Given the description of an element on the screen output the (x, y) to click on. 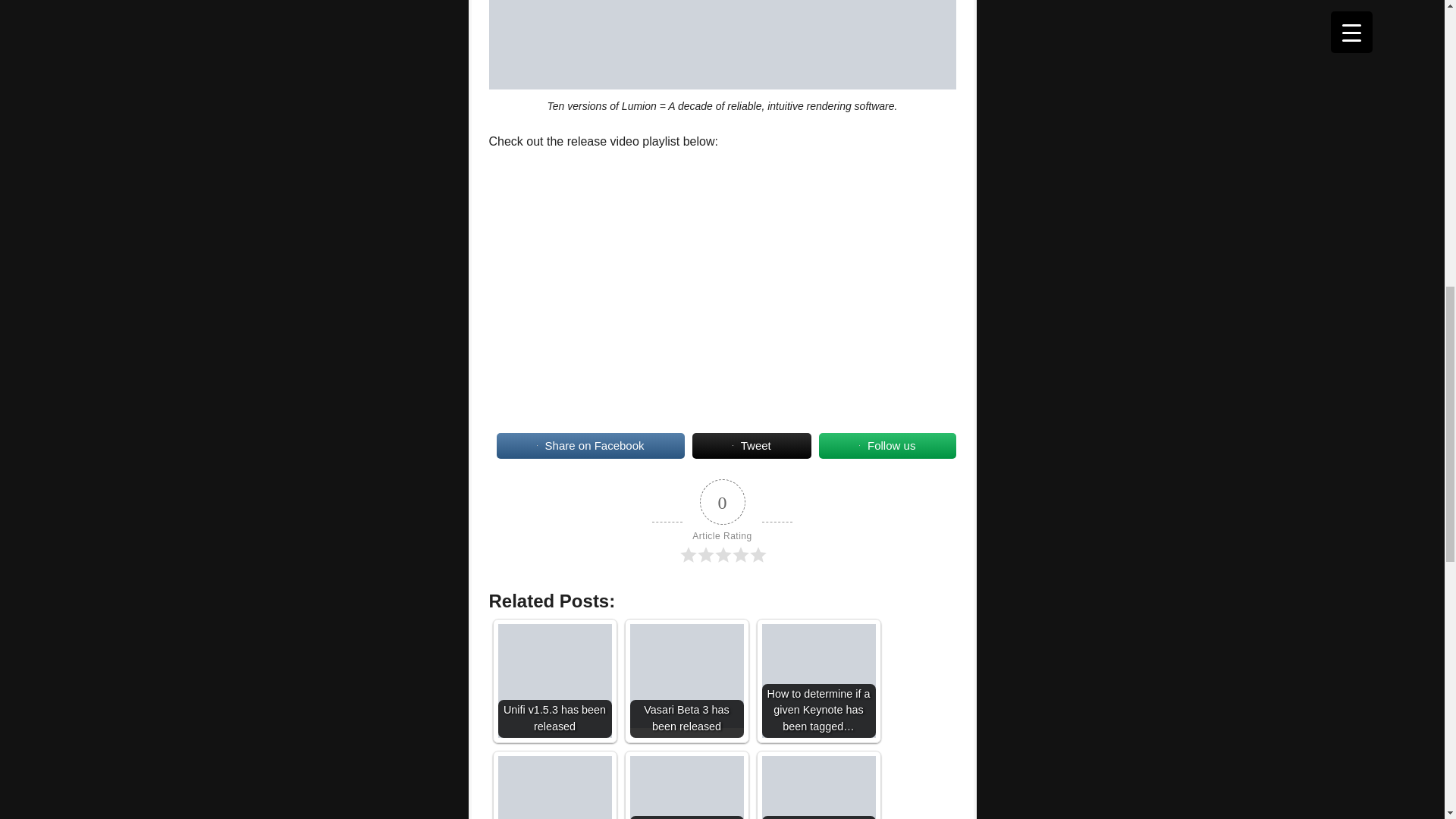
Share on Facebook (590, 445)
Tweet (751, 445)
What I've been up to for the last 6 months or so.. (818, 787)
Auto-Section Box has been updated! (554, 787)
What I've been up to for the last 6 months or so.. (818, 787)
Unifi v1.5.3 has been released (554, 680)
Follow us (887, 445)
Vasari Beta 3 has been released (685, 676)
